Given the description of an element on the screen output the (x, y) to click on. 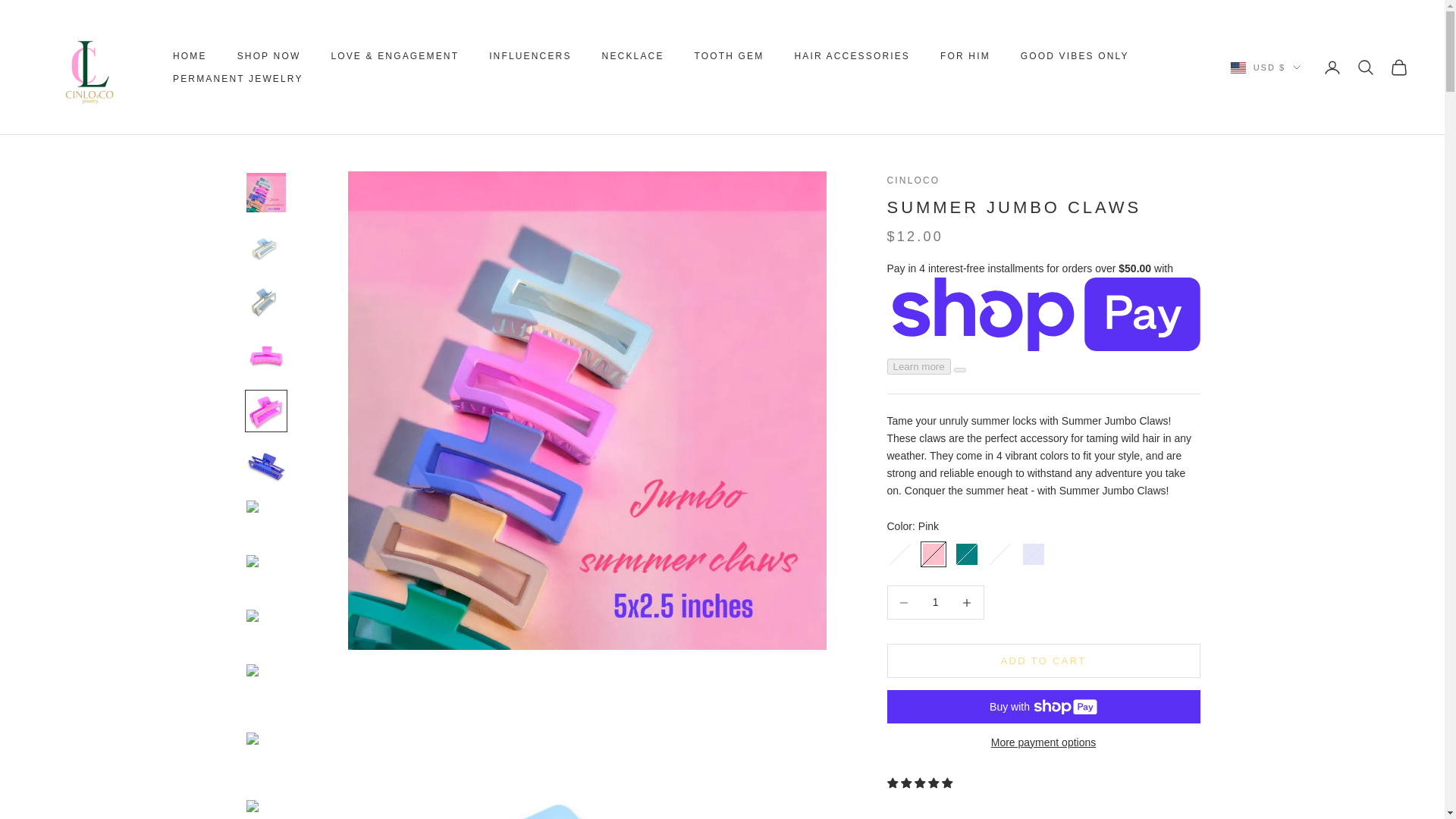
PERMANENT JEWELRY (237, 78)
HOME (189, 55)
GOOD VIBES ONLY (1074, 55)
CinloCo (89, 67)
HAIR ACCESSORIES (851, 55)
INFLUENCERS (529, 55)
TOOTH GEM (729, 55)
FOR HIM (965, 55)
1 (935, 602)
